Given the description of an element on the screen output the (x, y) to click on. 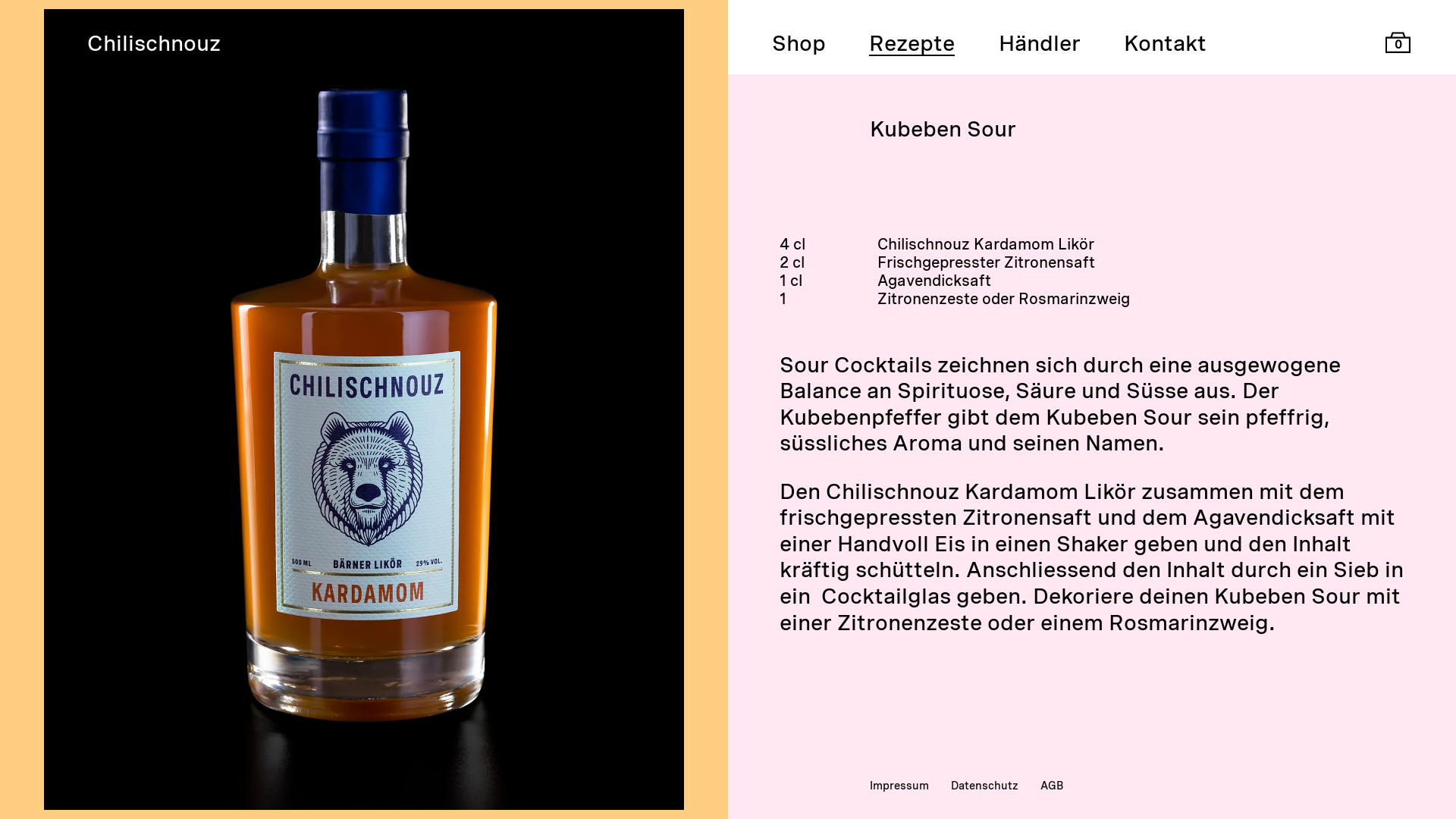
Chilischnouz Element type: text (153, 43)
AGB Element type: text (1051, 785)
Datenschutz Element type: text (984, 785)
Rezepte Element type: text (911, 43)
Impressum Element type: text (898, 785)
Kontakt Element type: text (1164, 43)
Shop Element type: text (798, 43)
